Given the description of an element on the screen output the (x, y) to click on. 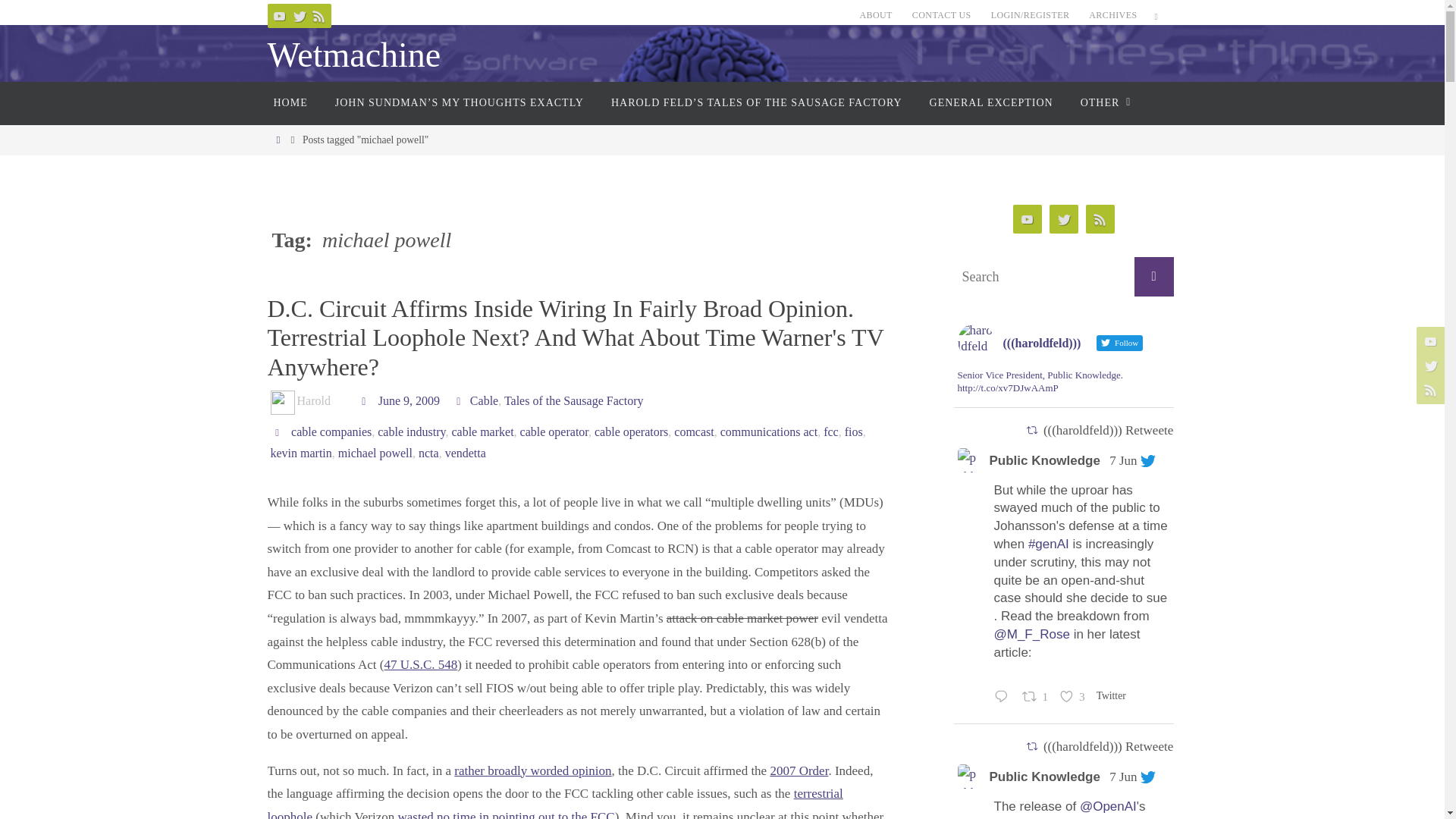
Home (277, 139)
GENERAL EXCEPTION (991, 102)
June 9, 2009 (408, 400)
cable operators (631, 431)
HOME (289, 102)
Wetmachine (353, 55)
Tags (280, 431)
cable operator (553, 431)
OTHER (1102, 102)
